Given the description of an element on the screen output the (x, y) to click on. 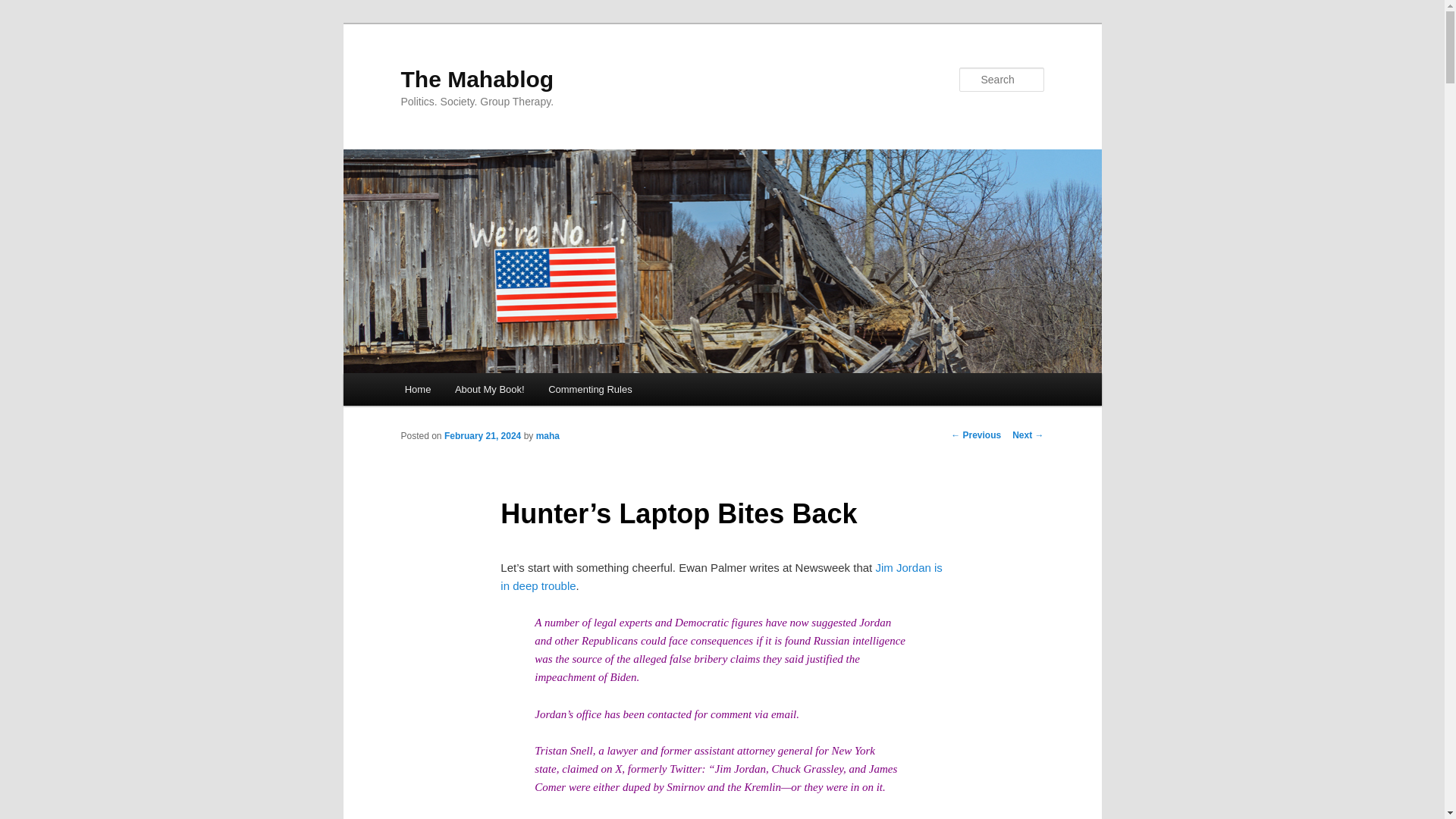
View all posts by maha (547, 435)
Home (417, 389)
Commenting Rules (589, 389)
Jim Jordan is in deep trouble (721, 576)
3:45 pm (482, 435)
The Mahablog (476, 78)
Republicans (608, 640)
maha (547, 435)
Chuck Grassley (807, 768)
February 21, 2024 (482, 435)
